Given the description of an element on the screen output the (x, y) to click on. 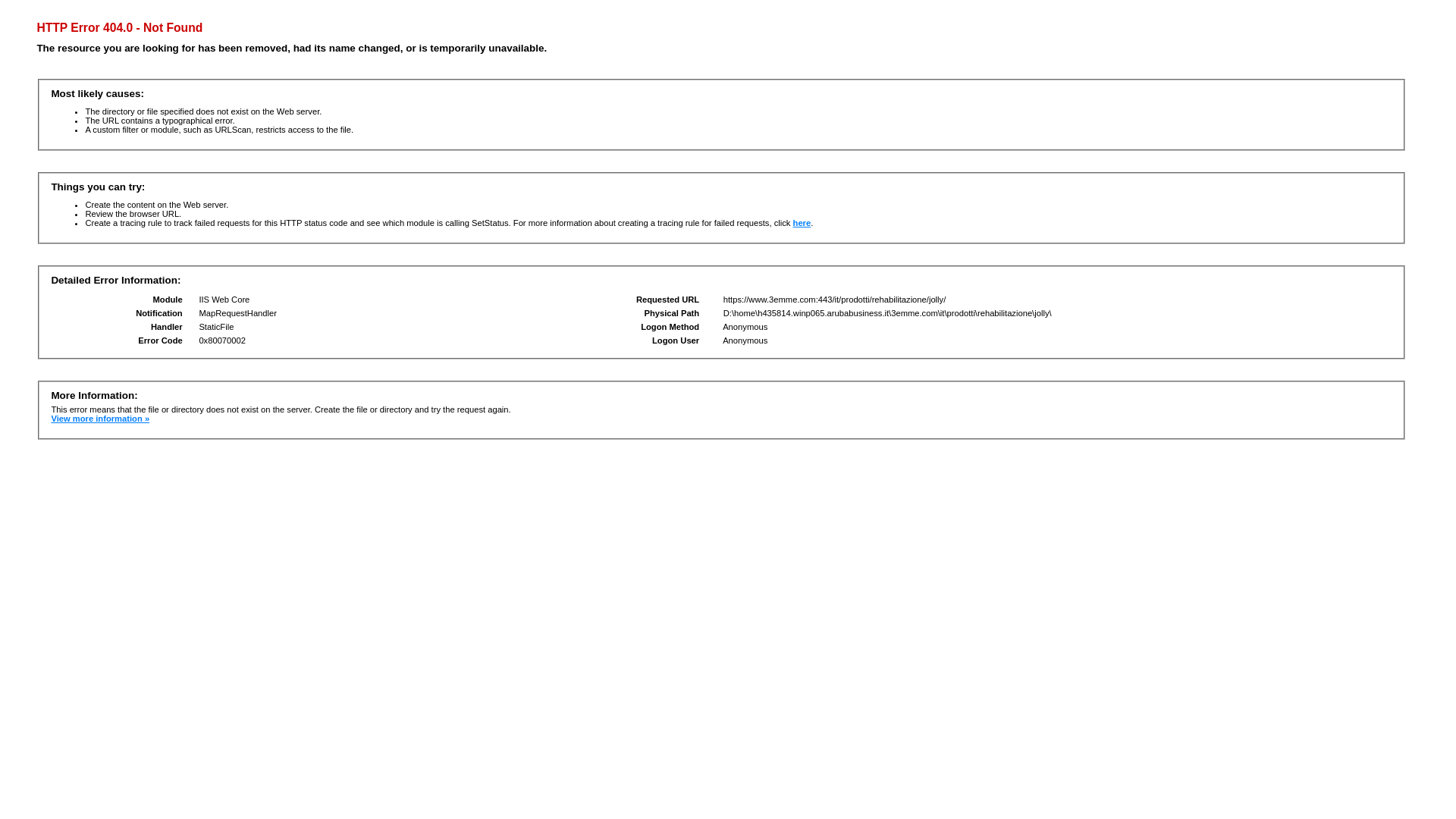
here Element type: text (802, 222)
